Given the description of an element on the screen output the (x, y) to click on. 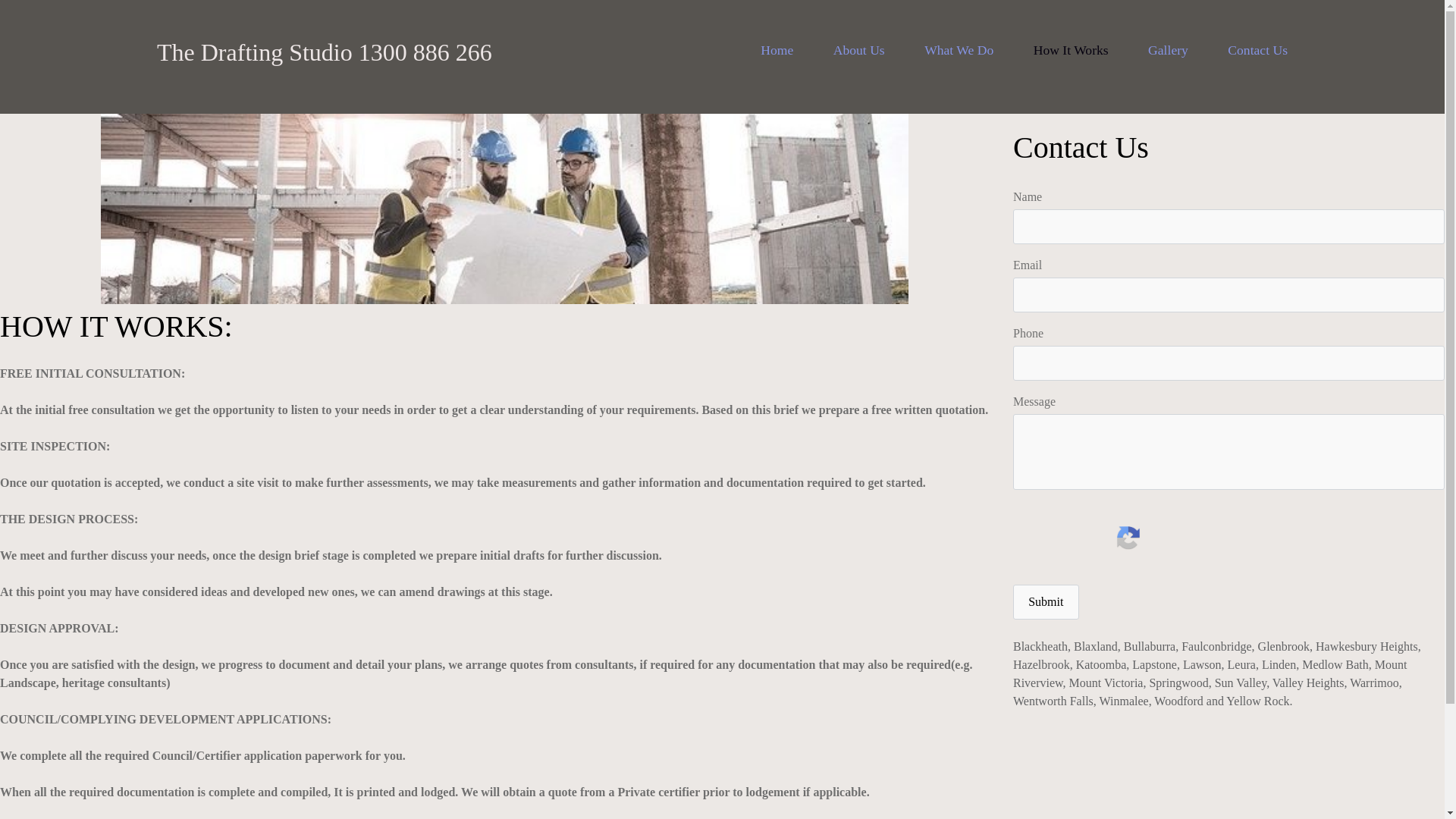
Gallery Element type: text (1168, 49)
The Drafting Studio 1300 886 266 Element type: text (324, 51)
About Us Element type: text (858, 49)
Contact Us Element type: text (1257, 49)
Submit Element type: text (1046, 601)
What We Do Element type: text (958, 49)
How It Works Element type: text (1070, 49)
Home Element type: text (776, 49)
